Given the description of an element on the screen output the (x, y) to click on. 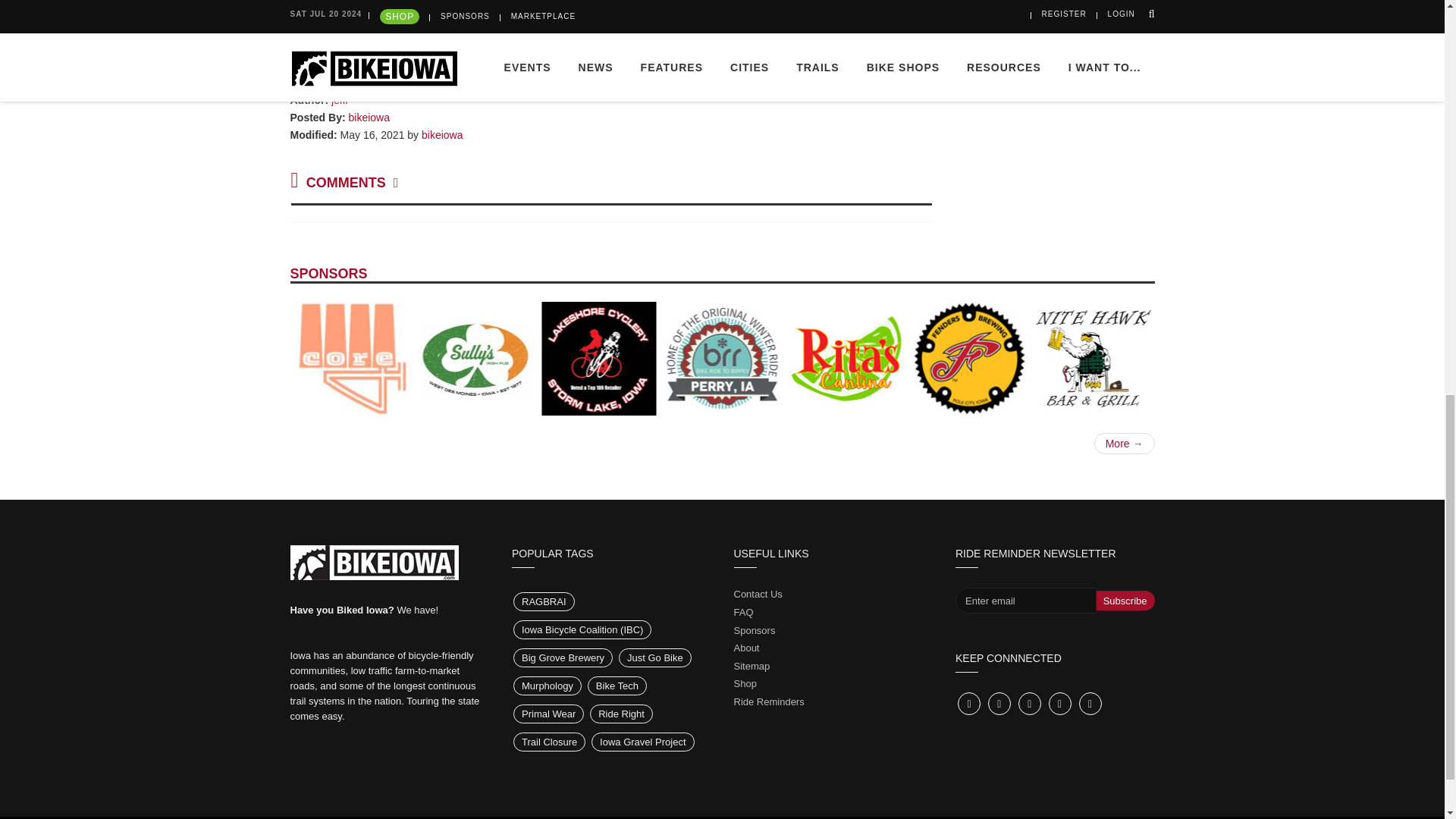
View details about Bike Tech (984, 1)
View details about Miller Lite (1054, 1)
